Given the description of an element on the screen output the (x, y) to click on. 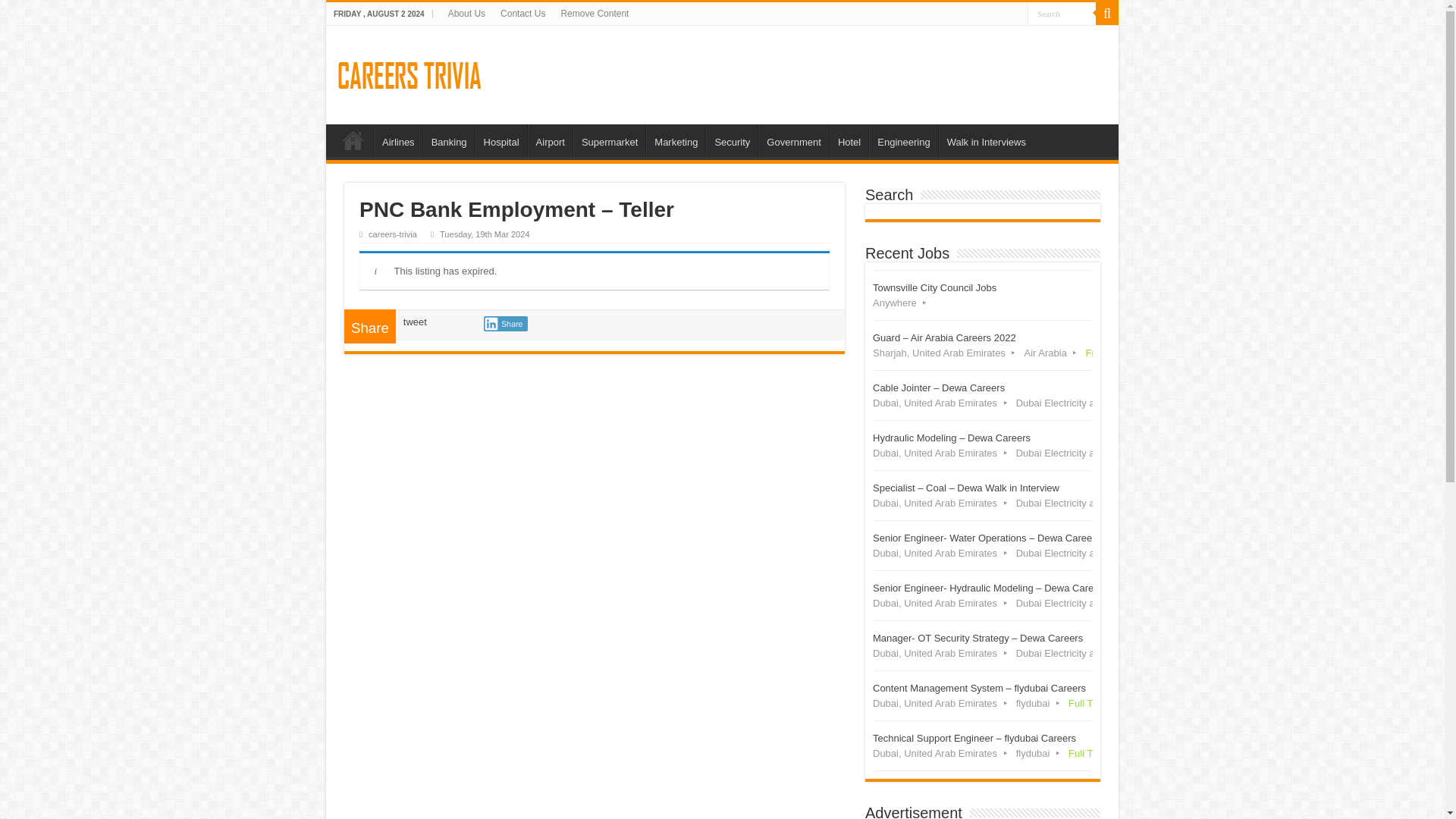
tweet (414, 321)
Hospital (501, 140)
Search (1061, 13)
careers-trivia (392, 234)
Engineering (903, 140)
About Us (467, 13)
Share (505, 323)
Search (1061, 13)
Contact Us (523, 13)
Banking (448, 140)
Security (731, 140)
Government (793, 140)
Marketing (675, 140)
Hotel (982, 295)
